Given the description of an element on the screen output the (x, y) to click on. 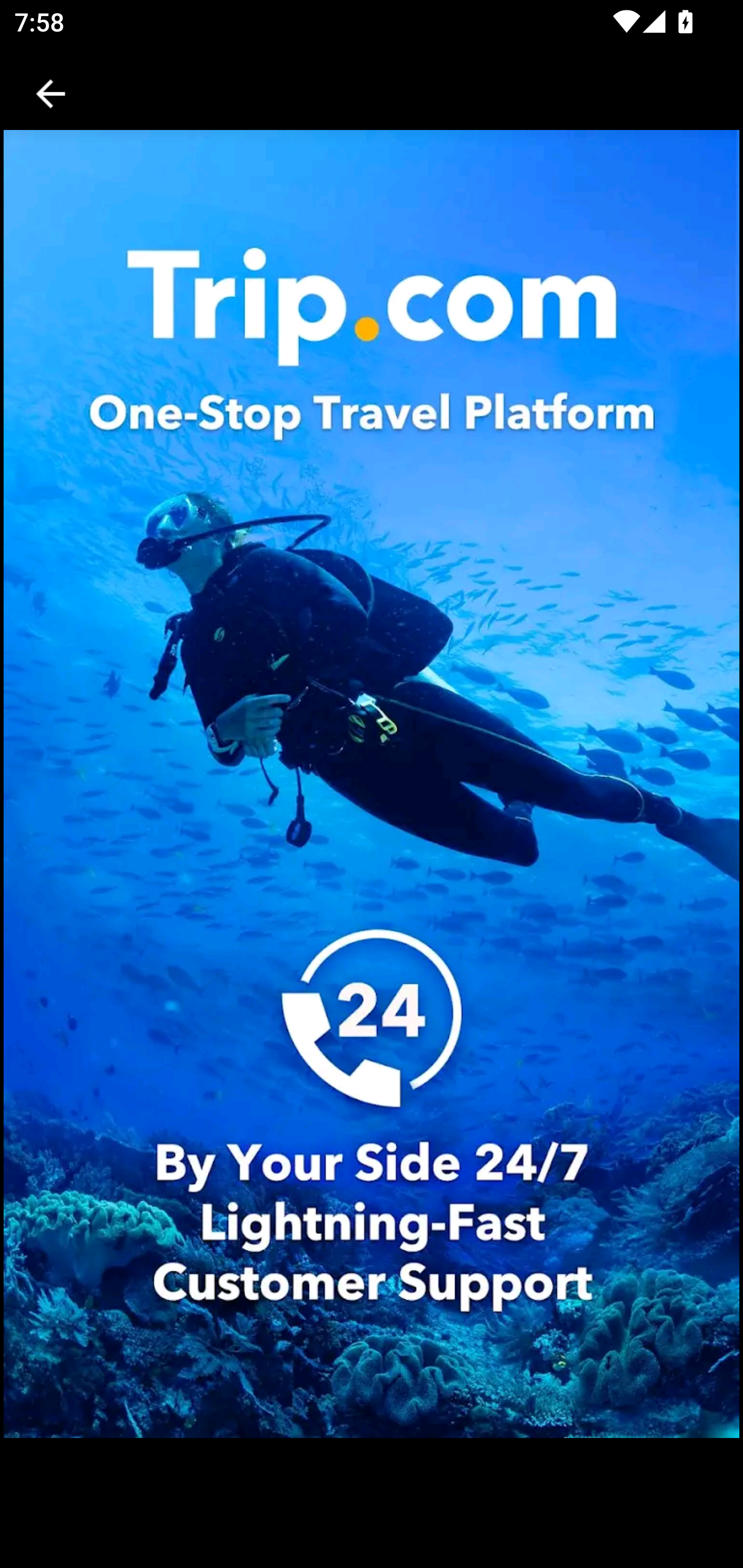
Back (50, 93)
